Given the description of an element on the screen output the (x, y) to click on. 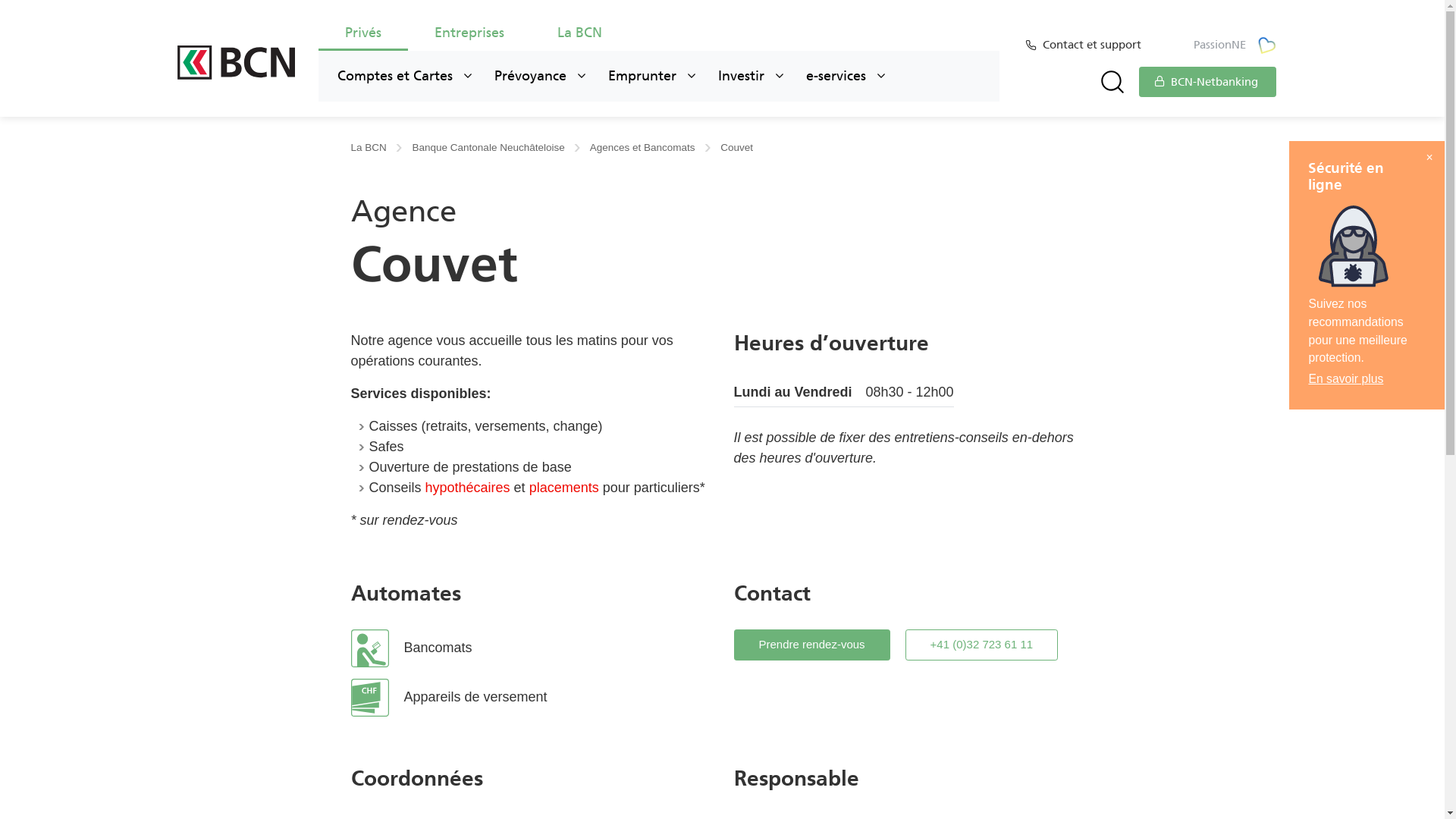
La BCN Element type: text (579, 36)
+41 (0)32 723 61 11 Element type: text (981, 644)
Page d'accueil Element type: hover (235, 62)
Emprunter Element type: text (651, 75)
Agences et Bancomats Element type: text (649, 147)
Investir Element type: text (750, 75)
BCN-Netbanking Element type: text (1207, 81)
Bancomats Element type: text (530, 648)
La BCN Element type: text (375, 147)
Prendre rendez-vous Element type: text (812, 644)
Contact et support Element type: text (1093, 44)
e-services Element type: text (845, 75)
Appareils de versement Element type: text (530, 697)
PassionNE Element type: text (1234, 44)
Comptes et Cartes Element type: text (404, 75)
Entreprises Element type: text (468, 36)
En savoir plus Element type: text (1345, 378)
placements Element type: text (564, 487)
